Given the description of an element on the screen output the (x, y) to click on. 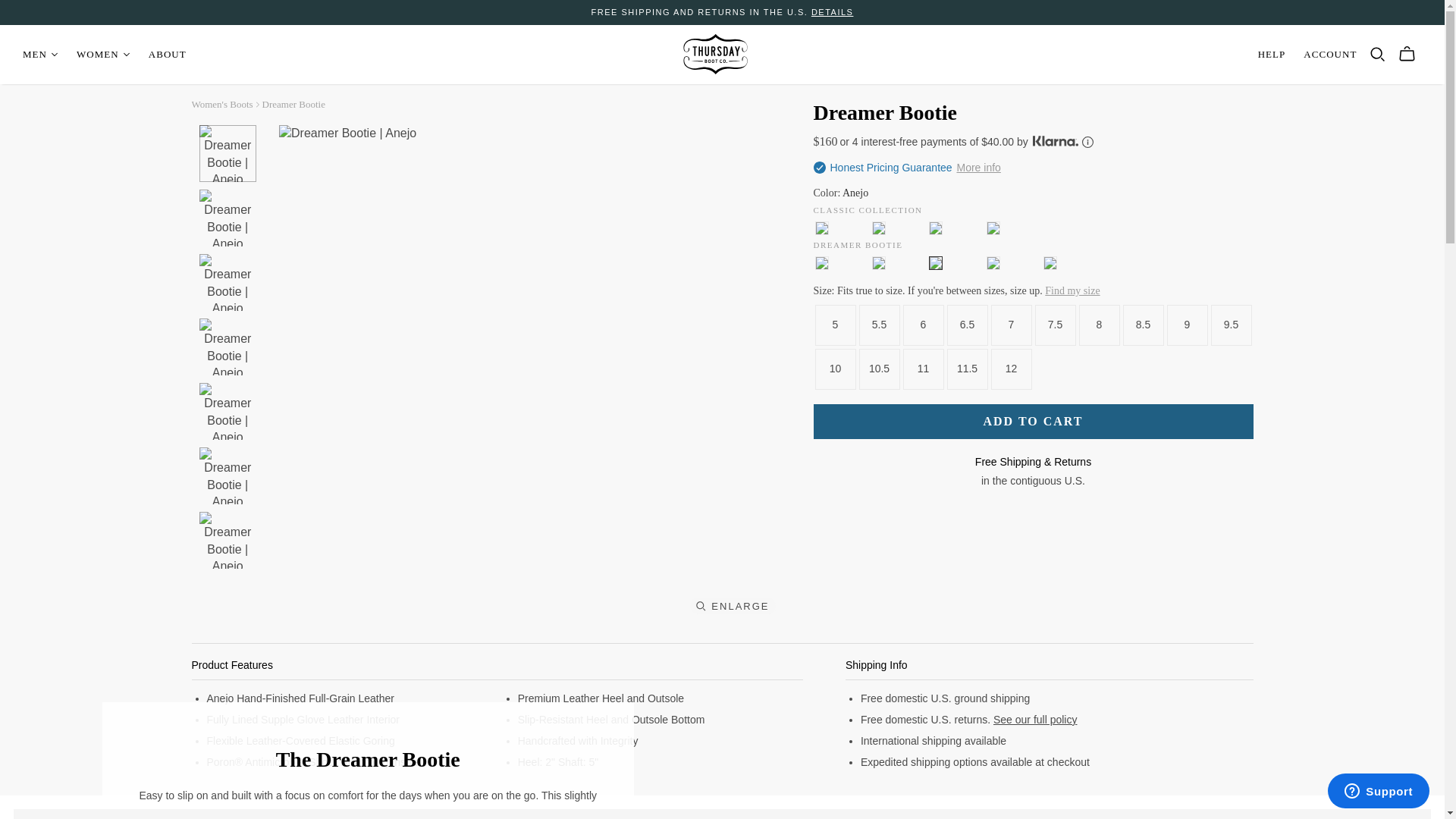
View cart (1406, 53)
DETAILS (831, 11)
ACCOUNT (1329, 53)
Thursday Boot Company (715, 53)
WOMEN (102, 53)
ABOUT (167, 53)
